Given the description of an element on the screen output the (x, y) to click on. 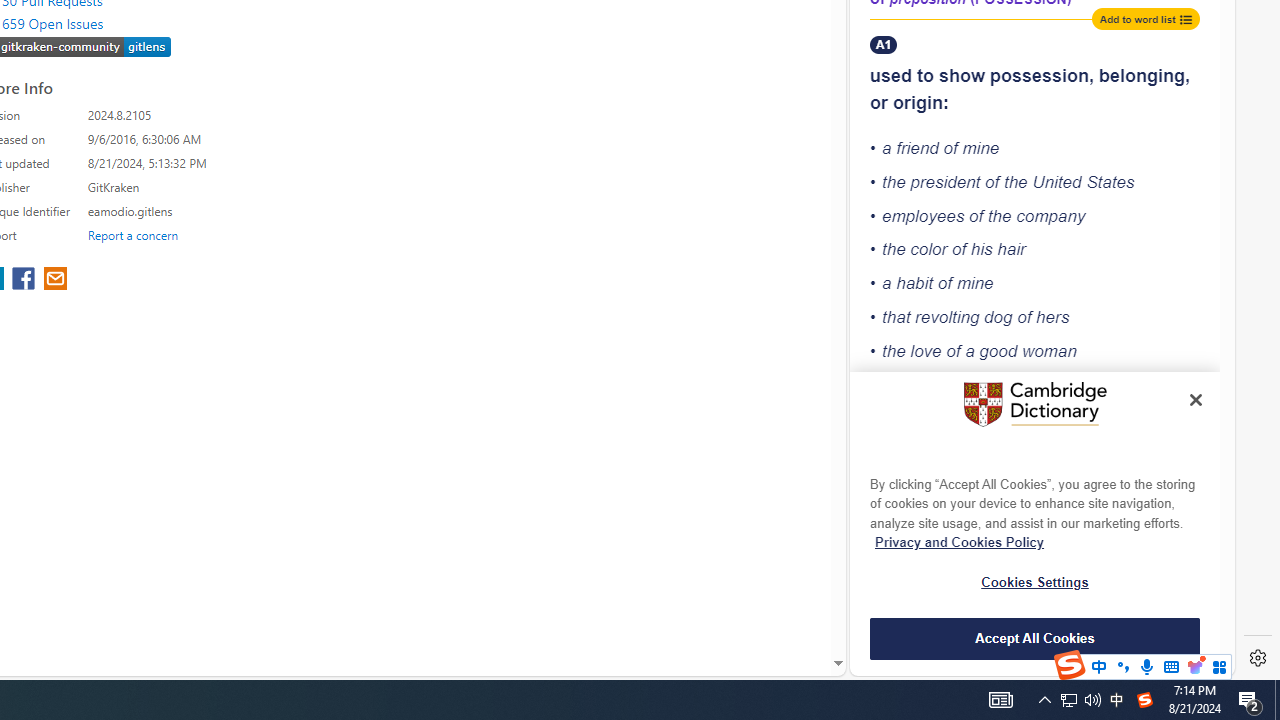
revolting (947, 316)
members (993, 513)
share extension on email (54, 280)
Cookies Settings (1035, 582)
possession (1039, 75)
love (926, 350)
company (1050, 215)
United (1056, 182)
employees (923, 215)
hair (1011, 249)
